Given the description of an element on the screen output the (x, y) to click on. 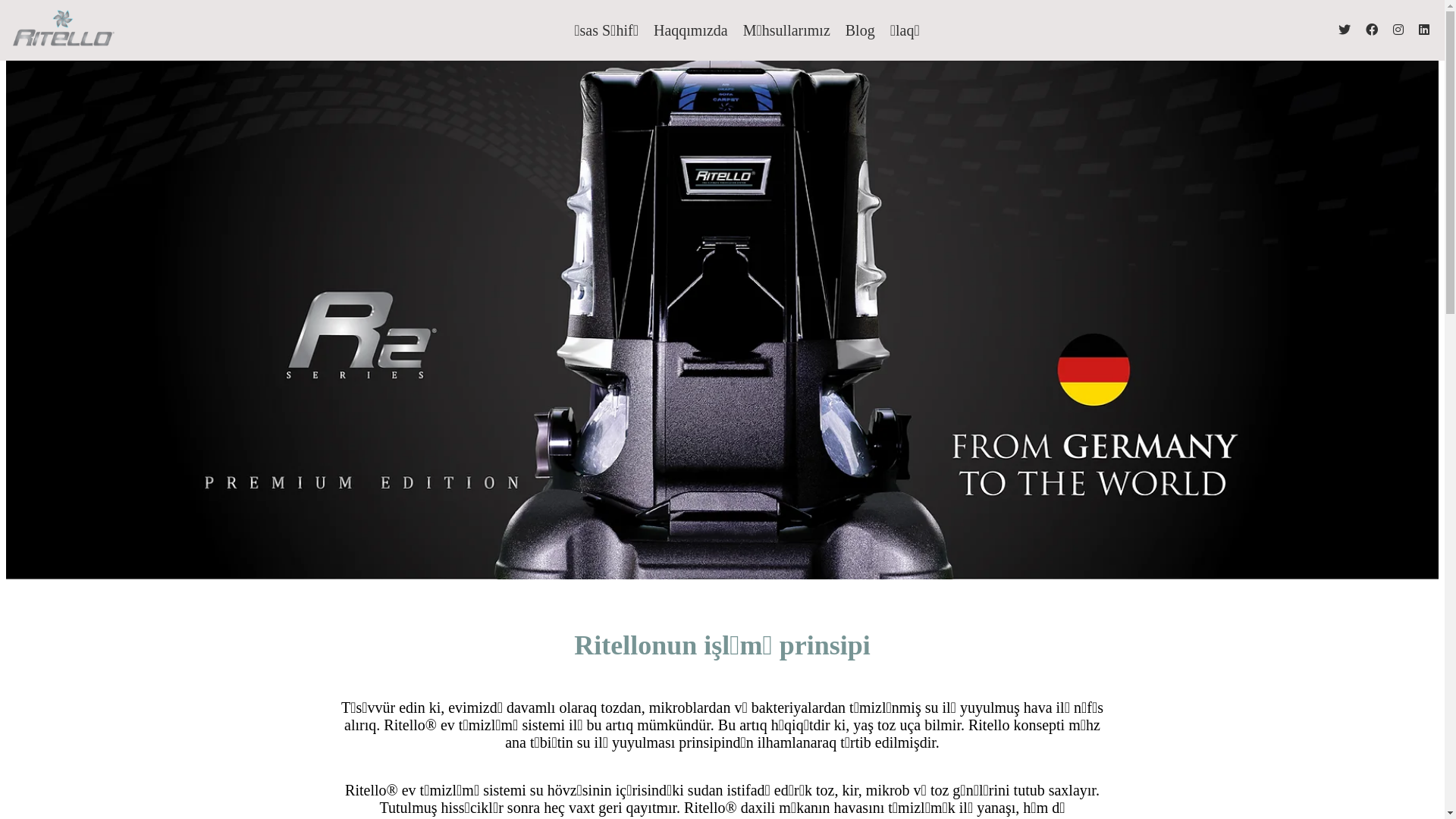
Blog Element type: text (860, 29)
